Given the description of an element on the screen output the (x, y) to click on. 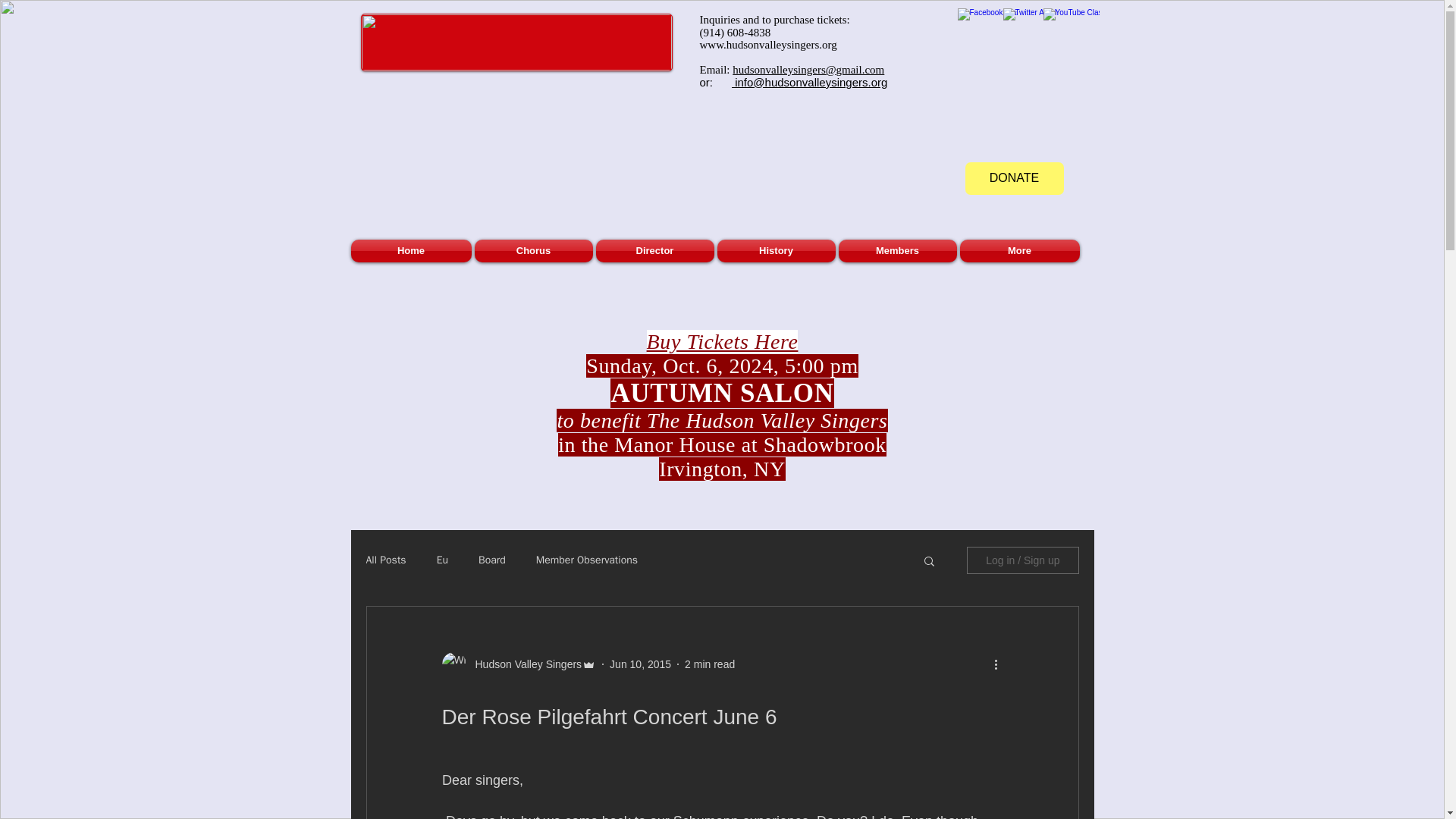
Chorus (533, 250)
All Posts (385, 560)
Jun 10, 2015 (640, 664)
www.hudsonvalleysingers.org (766, 44)
Home (410, 250)
DONATE (1012, 178)
Director (655, 250)
2 min read (709, 664)
History (776, 250)
Members (897, 250)
